Given the description of an element on the screen output the (x, y) to click on. 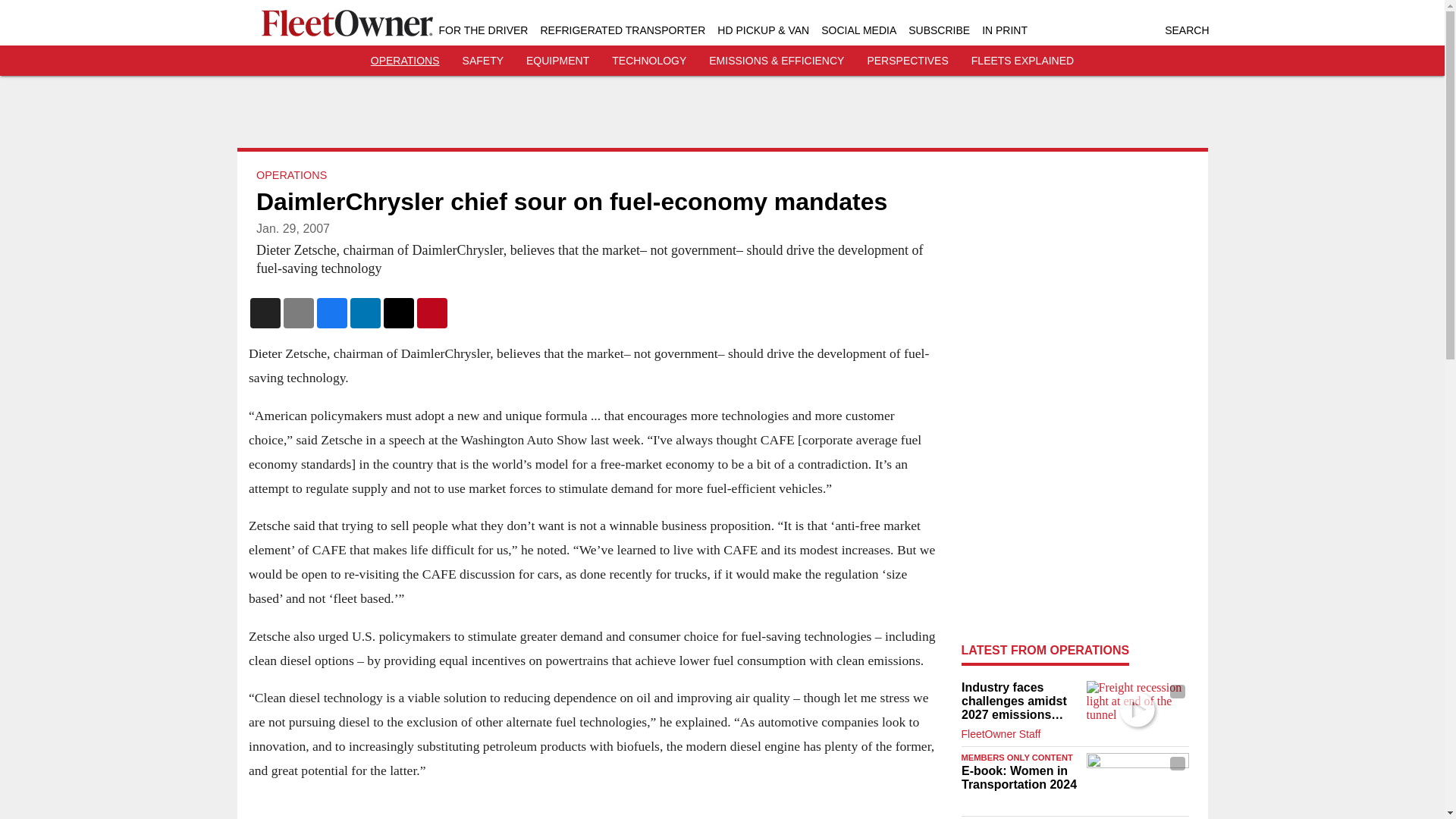
Freight recession light at end of the tunnel (1137, 708)
SAFETY (483, 60)
FLEETS EXPLAINED (1022, 60)
FOR THE DRIVER (482, 30)
OPERATIONS (291, 174)
IN PRINT (1004, 30)
FleetOwner Staff (1000, 734)
OPERATIONS (405, 60)
REFRIGERATED TRANSPORTER (622, 30)
TECHNOLOGY (648, 60)
